Given the description of an element on the screen output the (x, y) to click on. 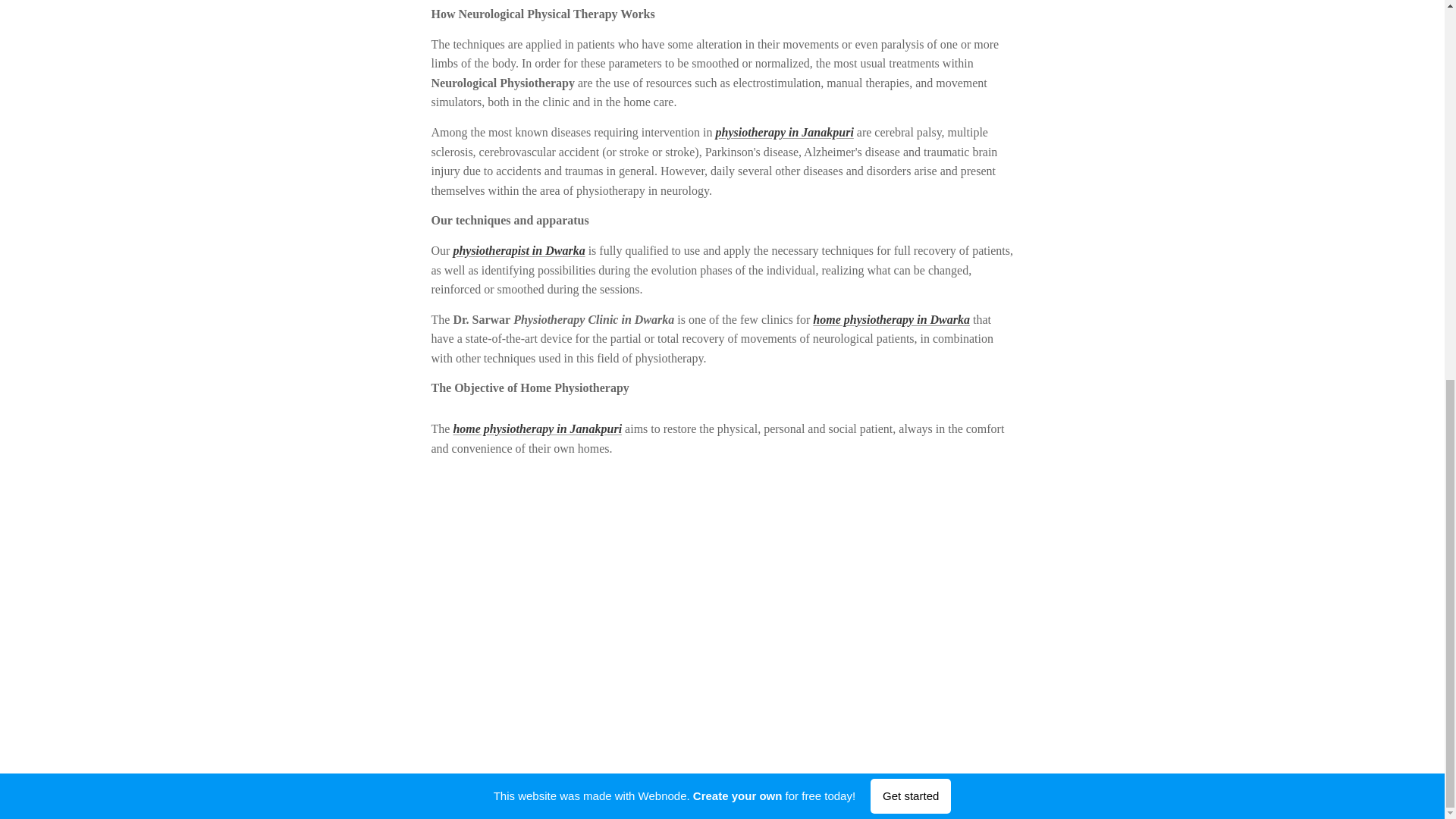
home physiotherapy in Dwarka (890, 318)
home physiotherapy in Janakpuri (536, 428)
physiotherapist in Dwarka (518, 250)
physiotherapy in Janakpuri (783, 132)
